Given the description of an element on the screen output the (x, y) to click on. 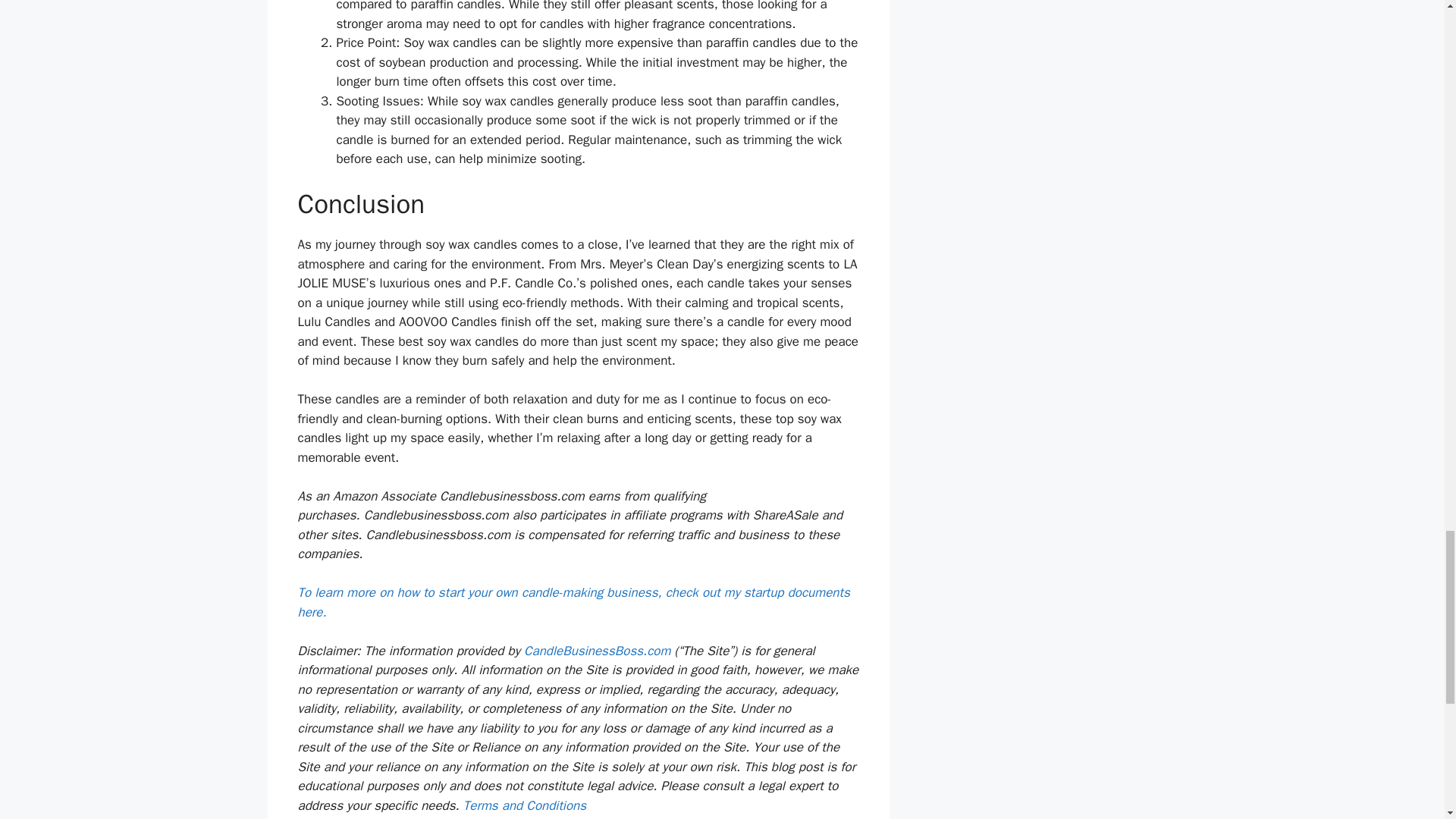
Terms and Conditions (524, 805)
CandleBusinessBoss.com (597, 650)
